Given the description of an element on the screen output the (x, y) to click on. 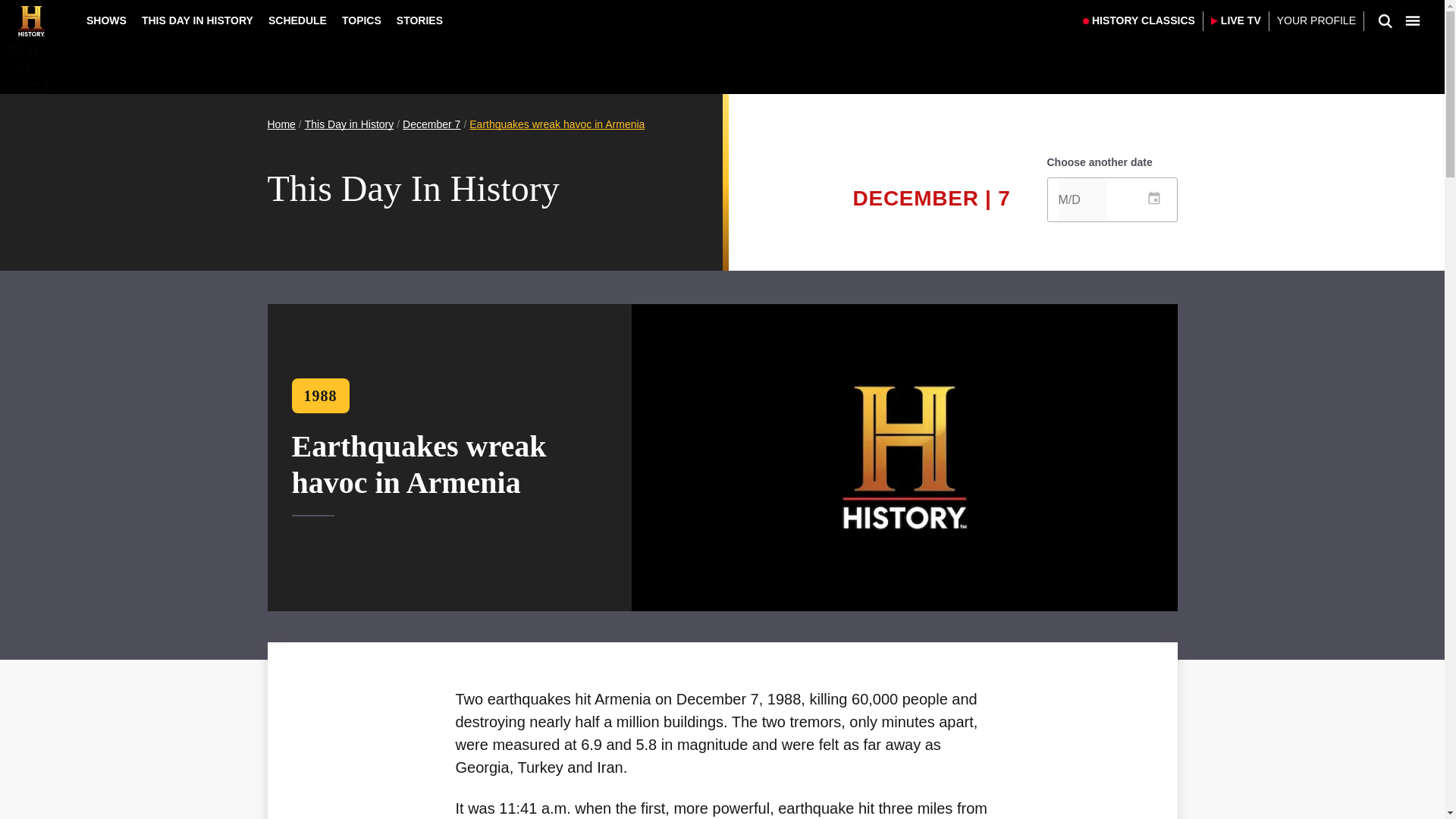
HISTORY CLASSICS (1138, 20)
LIVE TV (1236, 20)
SCHEDULE (297, 20)
YOUR PROFILE (1315, 21)
SHOWS (105, 20)
This Day in History (348, 123)
December 7 (431, 123)
THIS DAY IN HISTORY (196, 20)
Home (280, 123)
STORIES (418, 20)
